Given the description of an element on the screen output the (x, y) to click on. 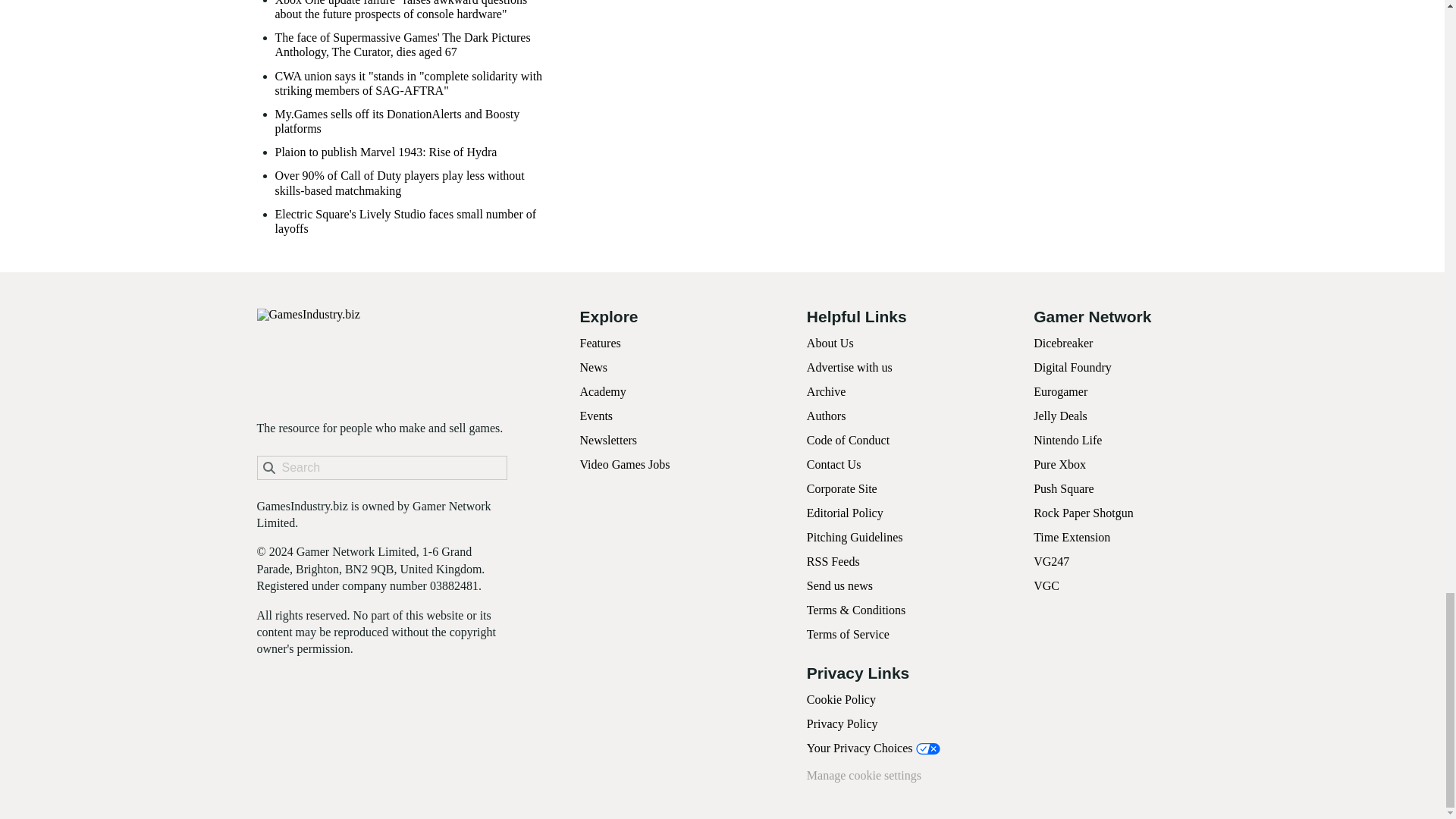
Academy (602, 391)
Video Games Jobs (624, 463)
Newsletters (608, 440)
Features (599, 342)
News (593, 367)
Advertise with us (849, 367)
About Us (829, 342)
Plaion to publish Marvel 1943: Rise of Hydra (385, 151)
Events (595, 415)
My.Games sells off its DonationAlerts and Boosty platforms (409, 121)
